Given the description of an element on the screen output the (x, y) to click on. 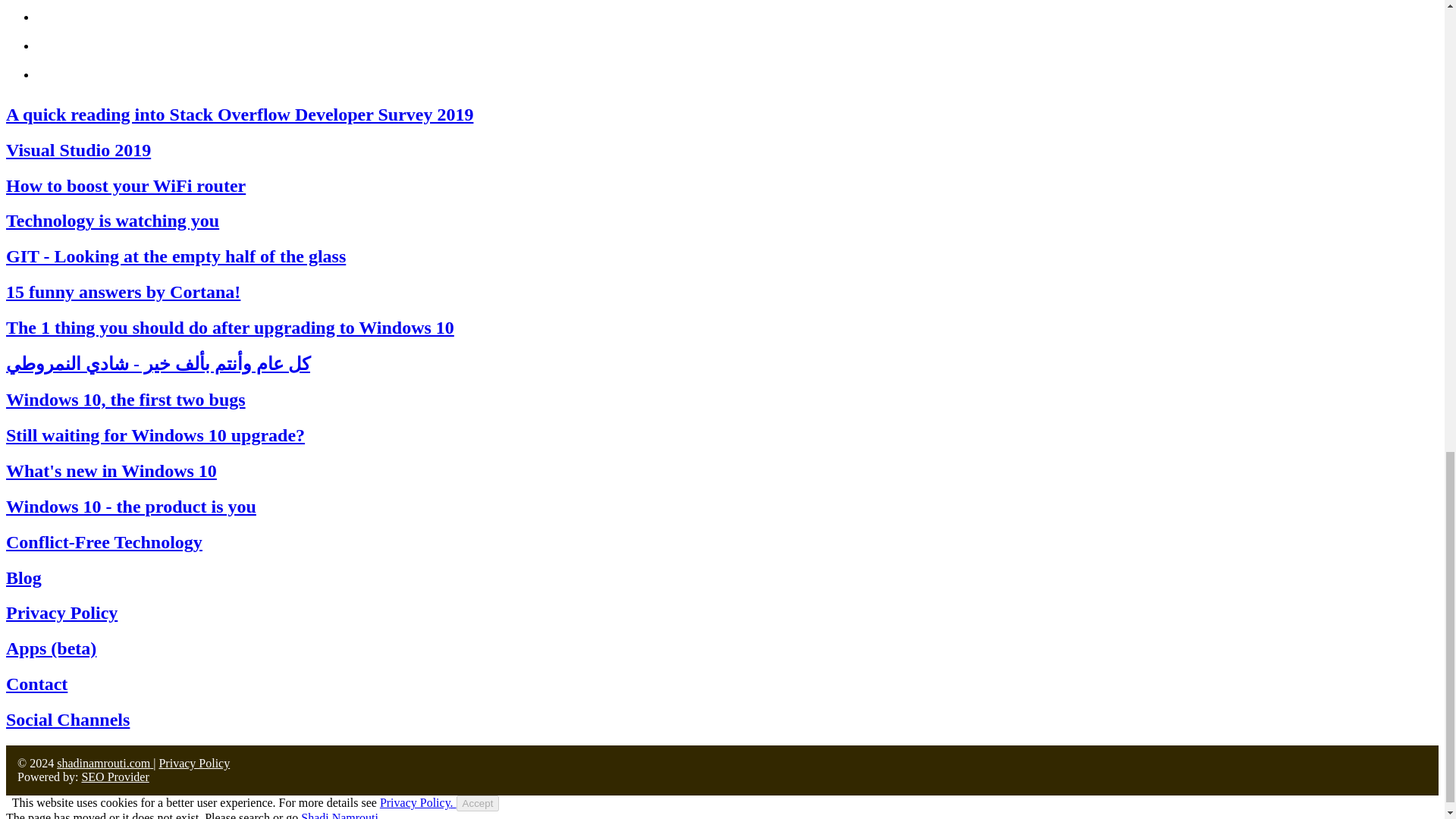
Accept (478, 803)
SEO Provider (114, 776)
shadinamrouti.com (104, 762)
Privacy Policy. (418, 802)
Privacy Policy (194, 762)
